Given the description of an element on the screen output the (x, y) to click on. 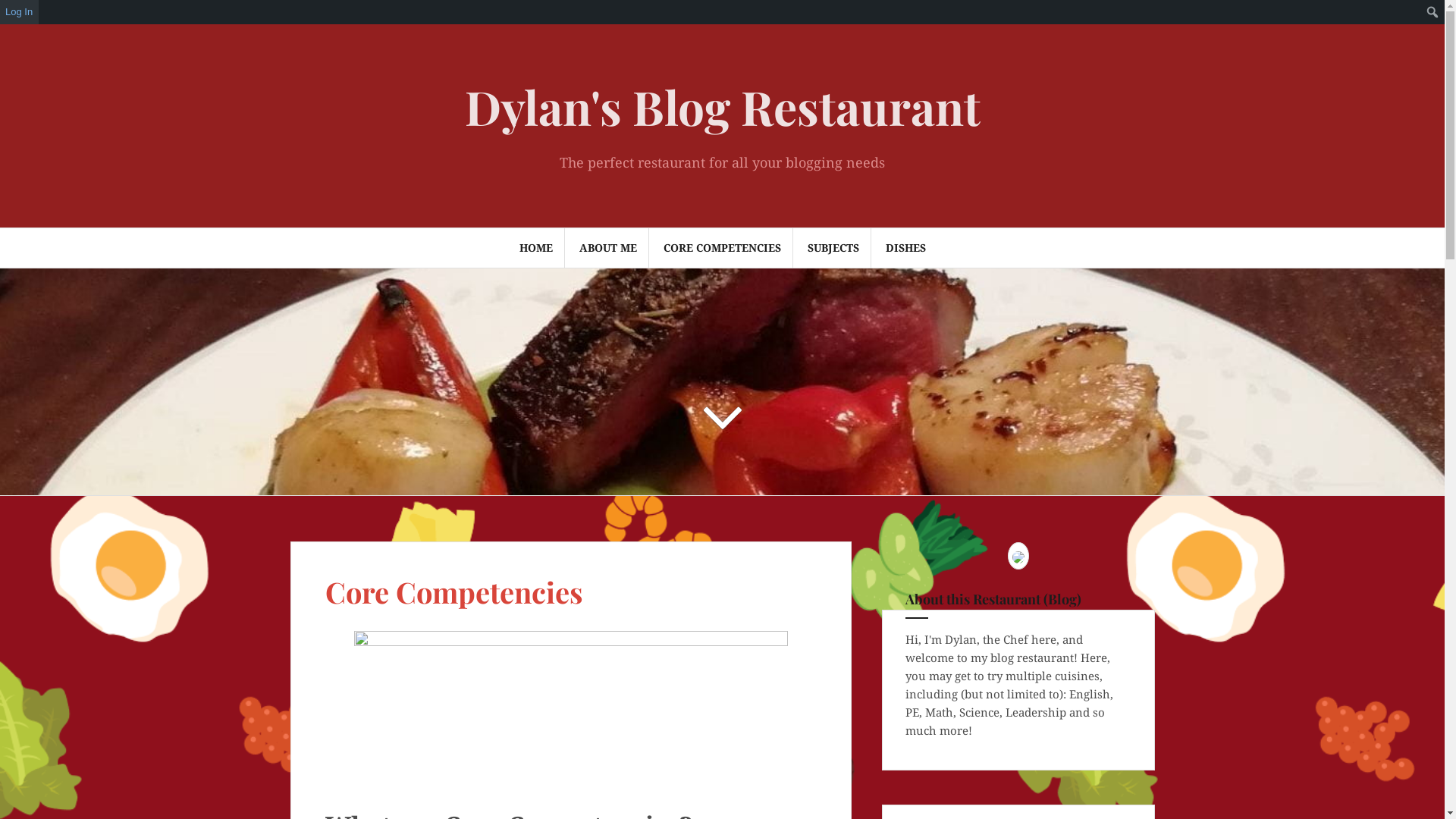
Log In Element type: text (19, 12)
HOME Element type: text (535, 247)
DISHES Element type: text (905, 247)
SUBJECTS Element type: text (832, 247)
Search Element type: text (15, 12)
CORE COMPETENCIES Element type: text (721, 247)
ABOUT ME Element type: text (608, 247)
Search Element type: text (31, 20)
Dylan's Blog Restaurant Element type: text (721, 106)
